Given the description of an element on the screen output the (x, y) to click on. 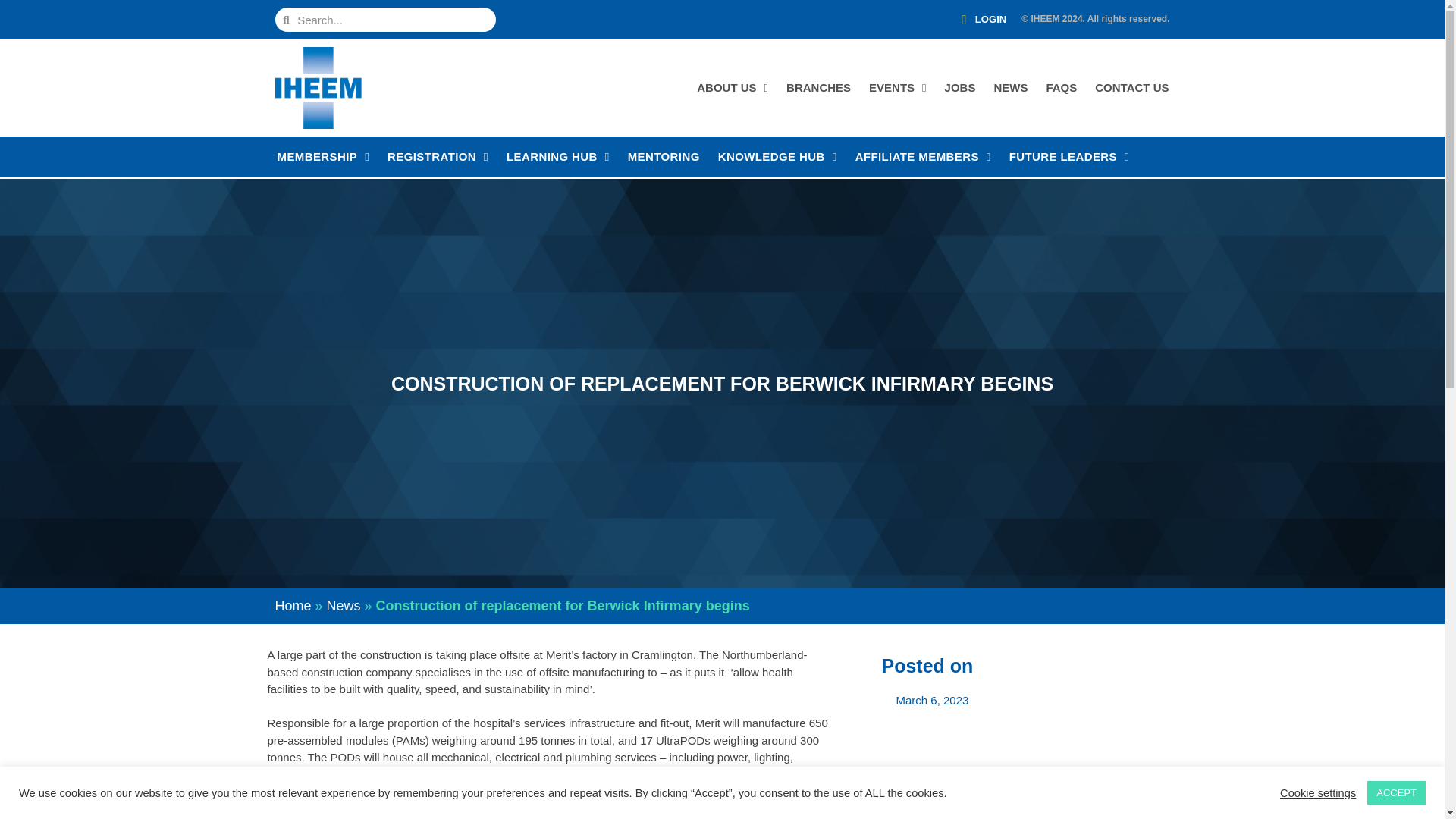
NEWS (1009, 87)
FAQS (1059, 87)
EVENTS (896, 87)
CONTACT US (1130, 87)
ABOUT US (731, 87)
JOBS (959, 87)
BRANCHES (817, 87)
LOGIN (978, 19)
MEMBERSHIP (321, 156)
